Given the description of an element on the screen output the (x, y) to click on. 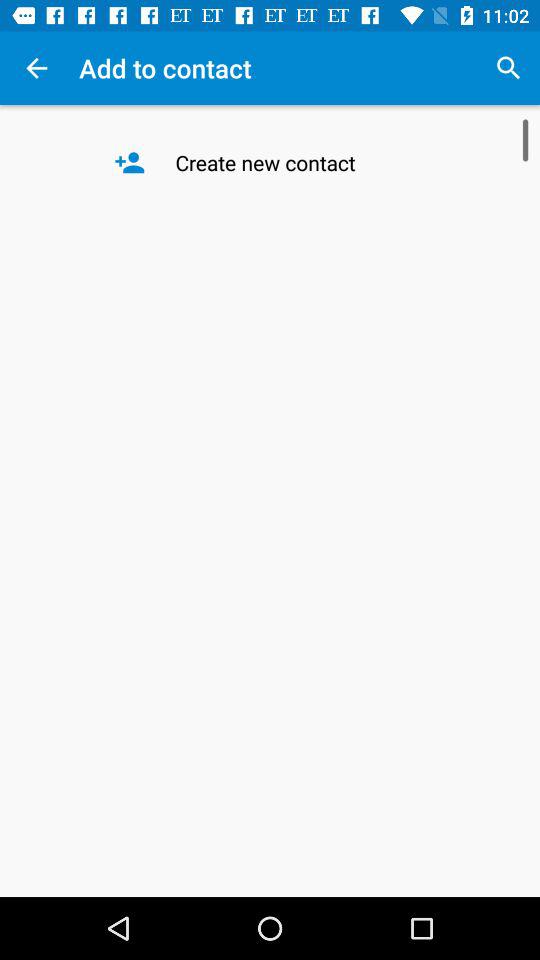
launch item above create new contact app (508, 67)
